Given the description of an element on the screen output the (x, y) to click on. 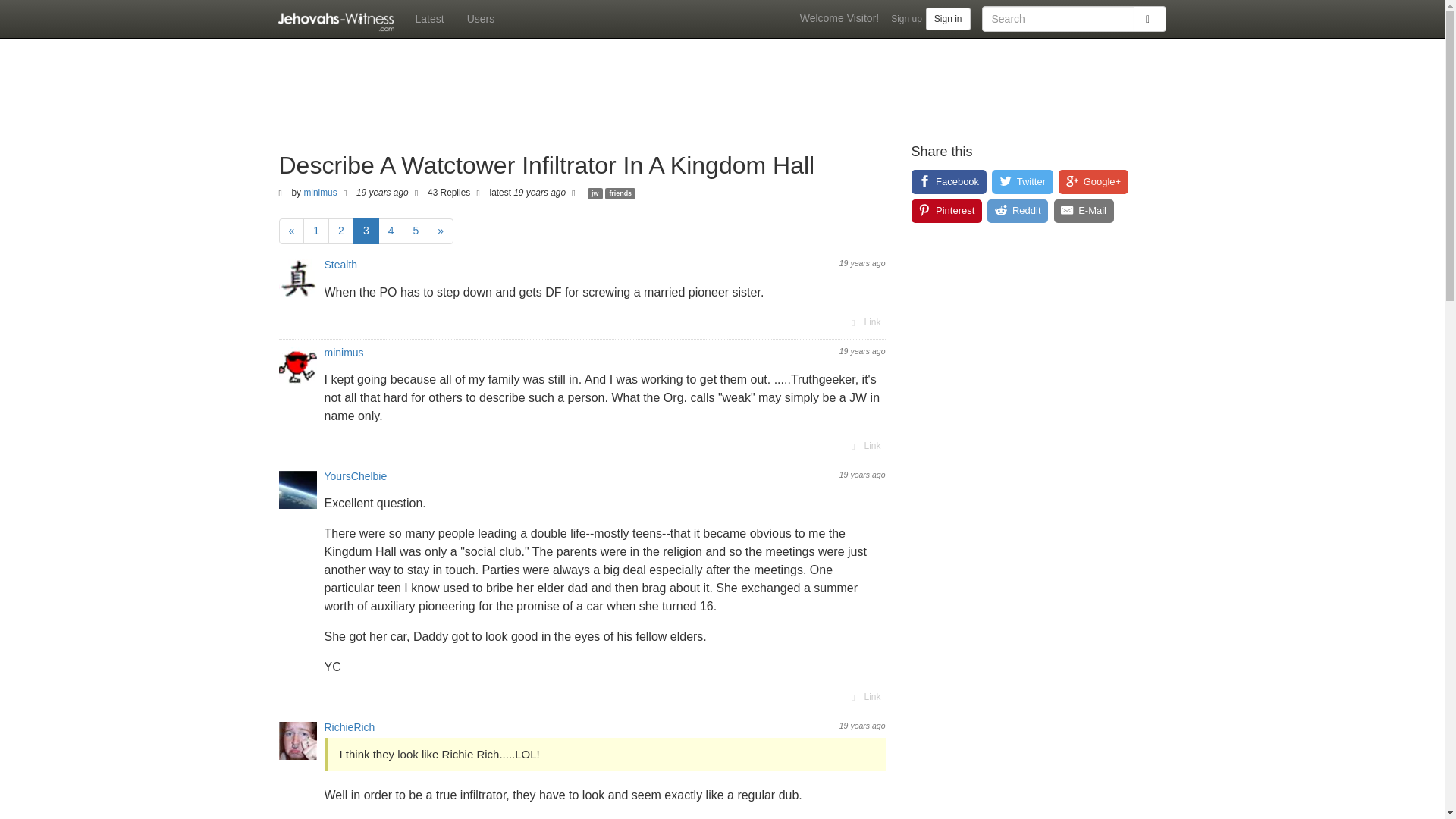
5 (415, 231)
Users (480, 18)
3 (365, 231)
Tue, Dec 20 2005, 03:35:00 (382, 192)
Link (864, 321)
Page 2 (341, 231)
2 (341, 231)
Link (864, 696)
Sign in (948, 18)
Page 1 (315, 231)
Tue, Dec 20 2005, 06:27:00 (862, 474)
Latest (428, 18)
next (440, 231)
Tue, Dec 20 2005, 05:43:00 (862, 262)
prev (291, 231)
